Given the description of an element on the screen output the (x, y) to click on. 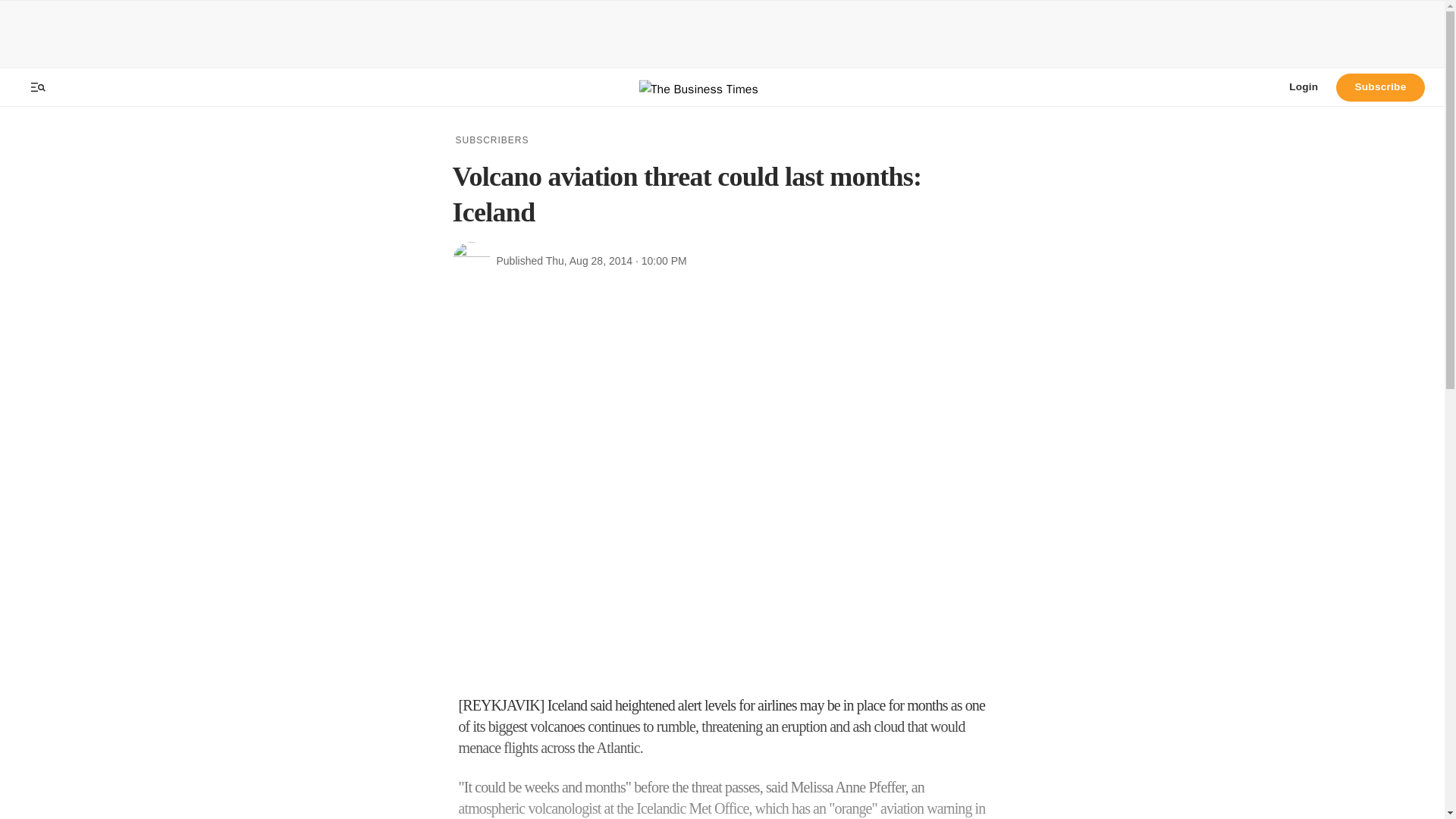
Subscribe (1379, 86)
Login (1302, 86)
The Business Times (722, 87)
